Given the description of an element on the screen output the (x, y) to click on. 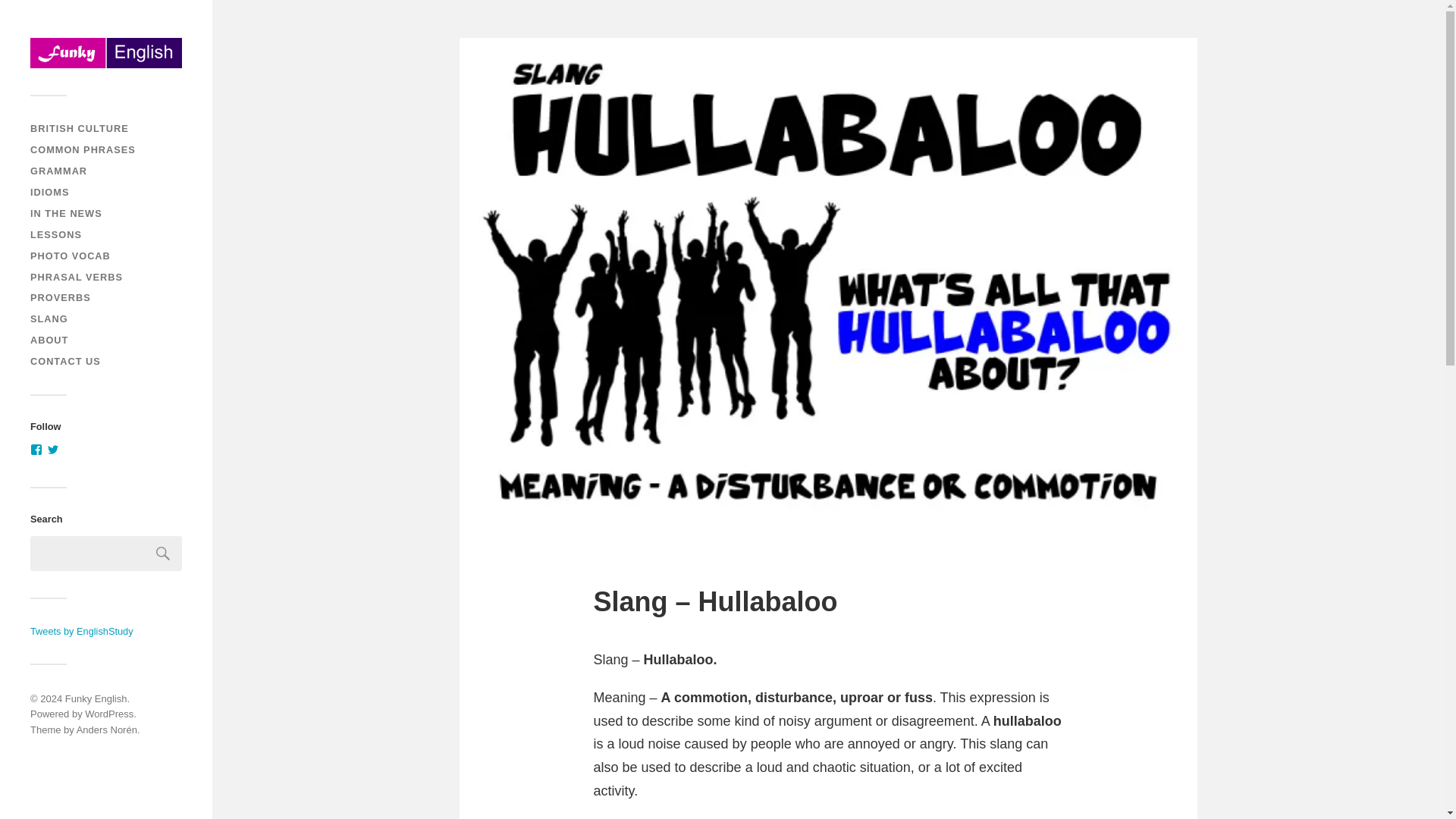
ABOUT (49, 339)
Funky English (96, 698)
GRAMMAR (58, 170)
PHOTO VOCAB (70, 255)
CONTACT US (65, 360)
BRITISH CULTURE (79, 128)
COMMON PHRASES (82, 149)
IN THE NEWS (65, 213)
SLANG (49, 318)
Tweets by EnglishStudy (81, 631)
Search (163, 553)
LESSONS (55, 234)
PHRASAL VERBS (76, 276)
IDIOMS (49, 192)
PROVERBS (60, 297)
